Given the description of an element on the screen output the (x, y) to click on. 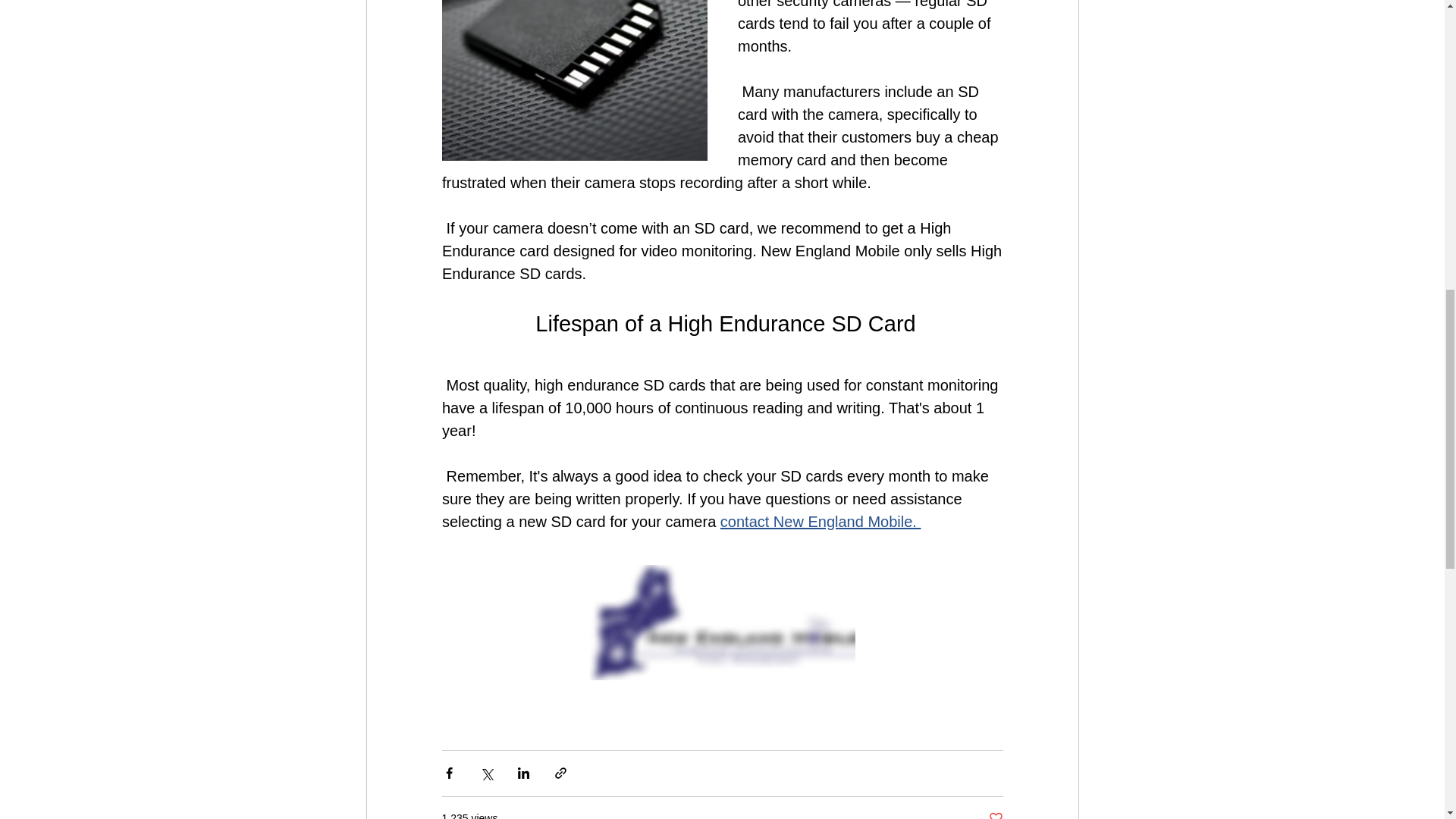
Post not marked as liked (995, 814)
contact New England Mobile.  (819, 521)
